Given the description of an element on the screen output the (x, y) to click on. 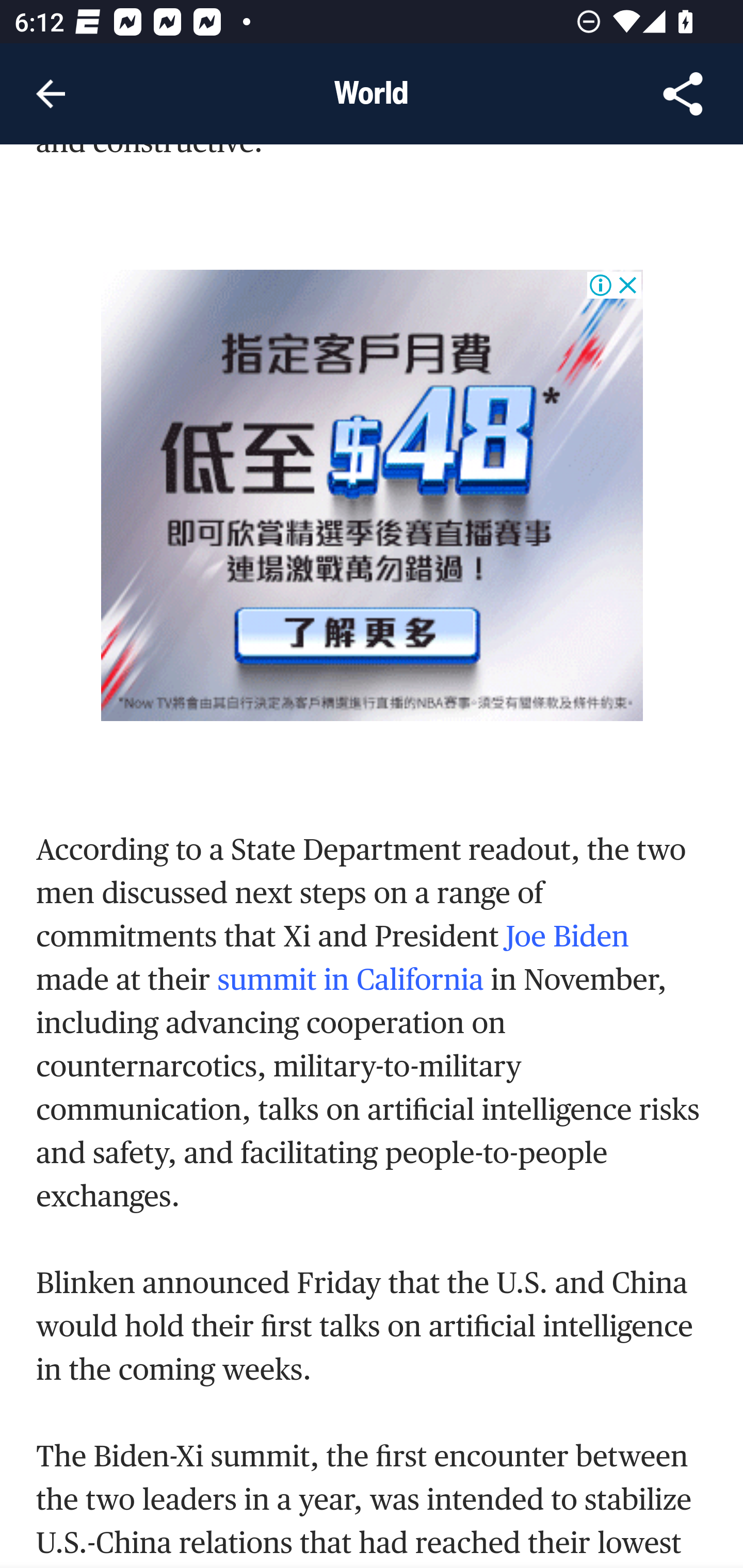
Navigate up (50, 93)
Share Article, button (683, 94)
Joe Biden (567, 936)
summit in California (349, 979)
